Given the description of an element on the screen output the (x, y) to click on. 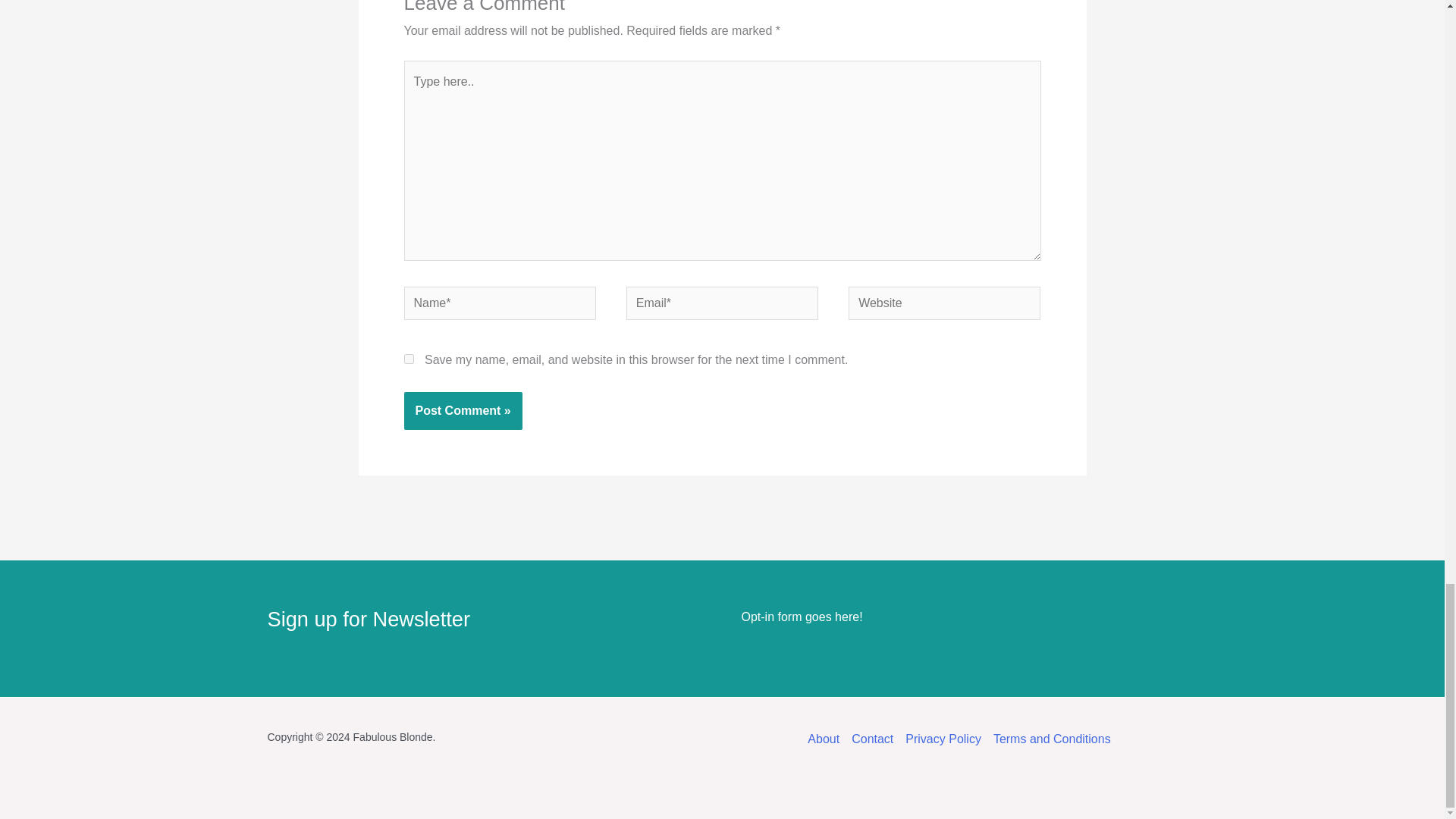
About (826, 739)
Contact (872, 739)
Privacy Policy (943, 739)
Terms and Conditions (1048, 739)
yes (408, 358)
